Given the description of an element on the screen output the (x, y) to click on. 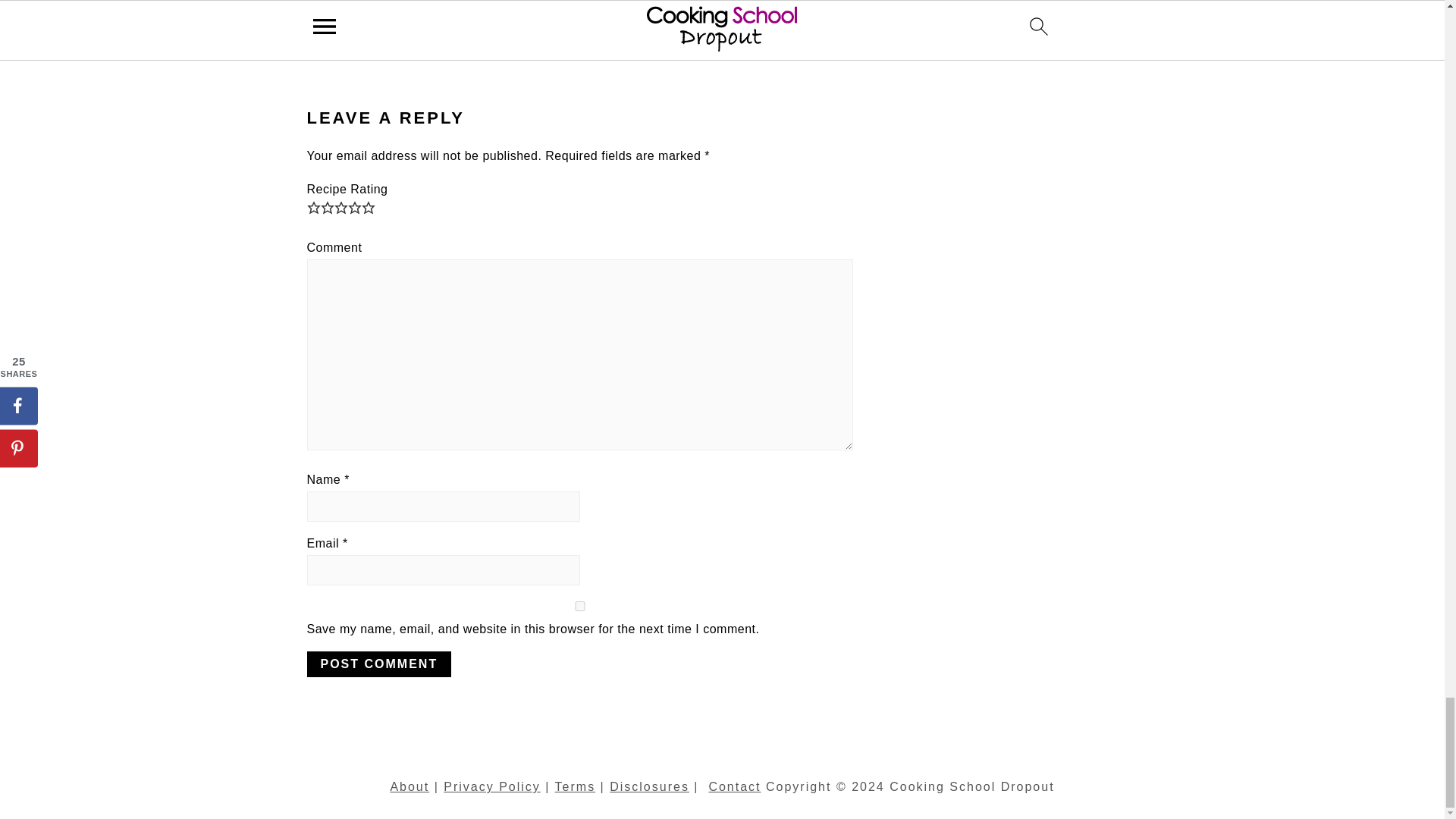
yes (578, 605)
Post Comment (378, 664)
